Given the description of an element on the screen output the (x, y) to click on. 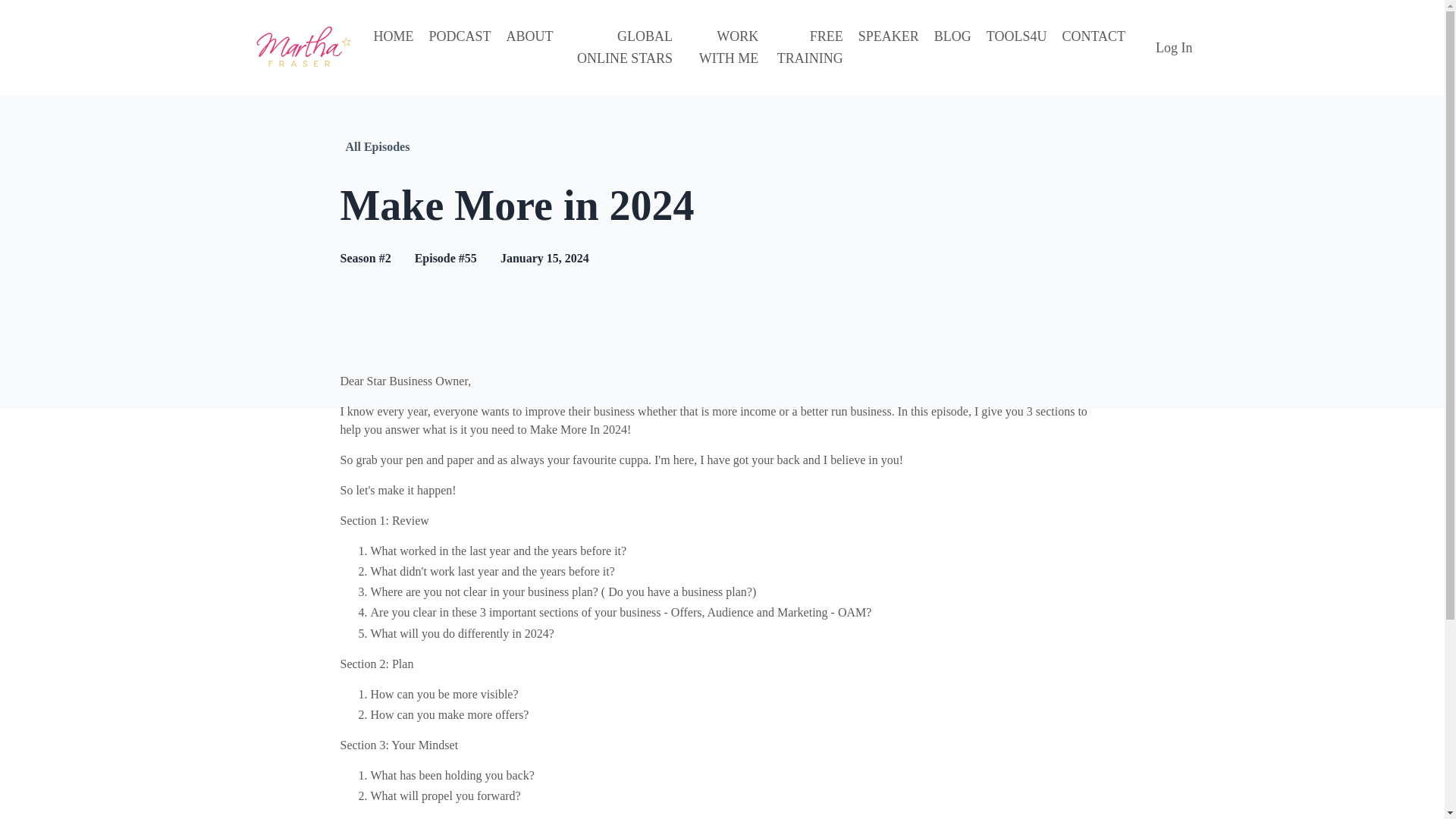
WORK WITH ME (722, 47)
SPEAKER (888, 47)
ABOUT (529, 47)
Log In (1174, 46)
HOME (392, 47)
PODCAST (460, 47)
TOOLS4U (1016, 47)
CONTACT (1093, 47)
GLOBAL ONLINE STARS (620, 47)
All Episodes (378, 147)
FREE TRAINING (808, 47)
